Given the description of an element on the screen output the (x, y) to click on. 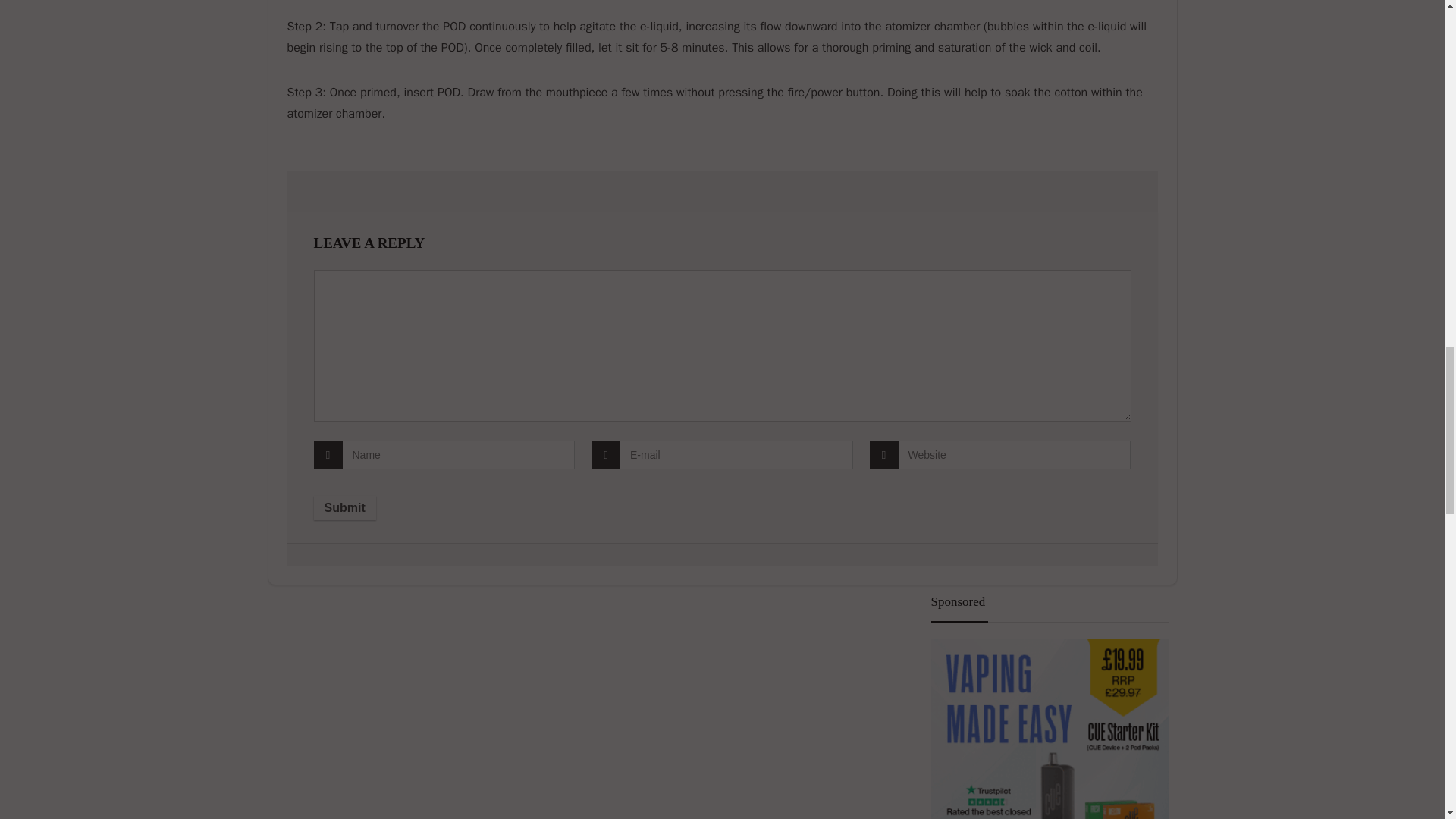
Submit (344, 508)
Submit (344, 508)
